Given the description of an element on the screen output the (x, y) to click on. 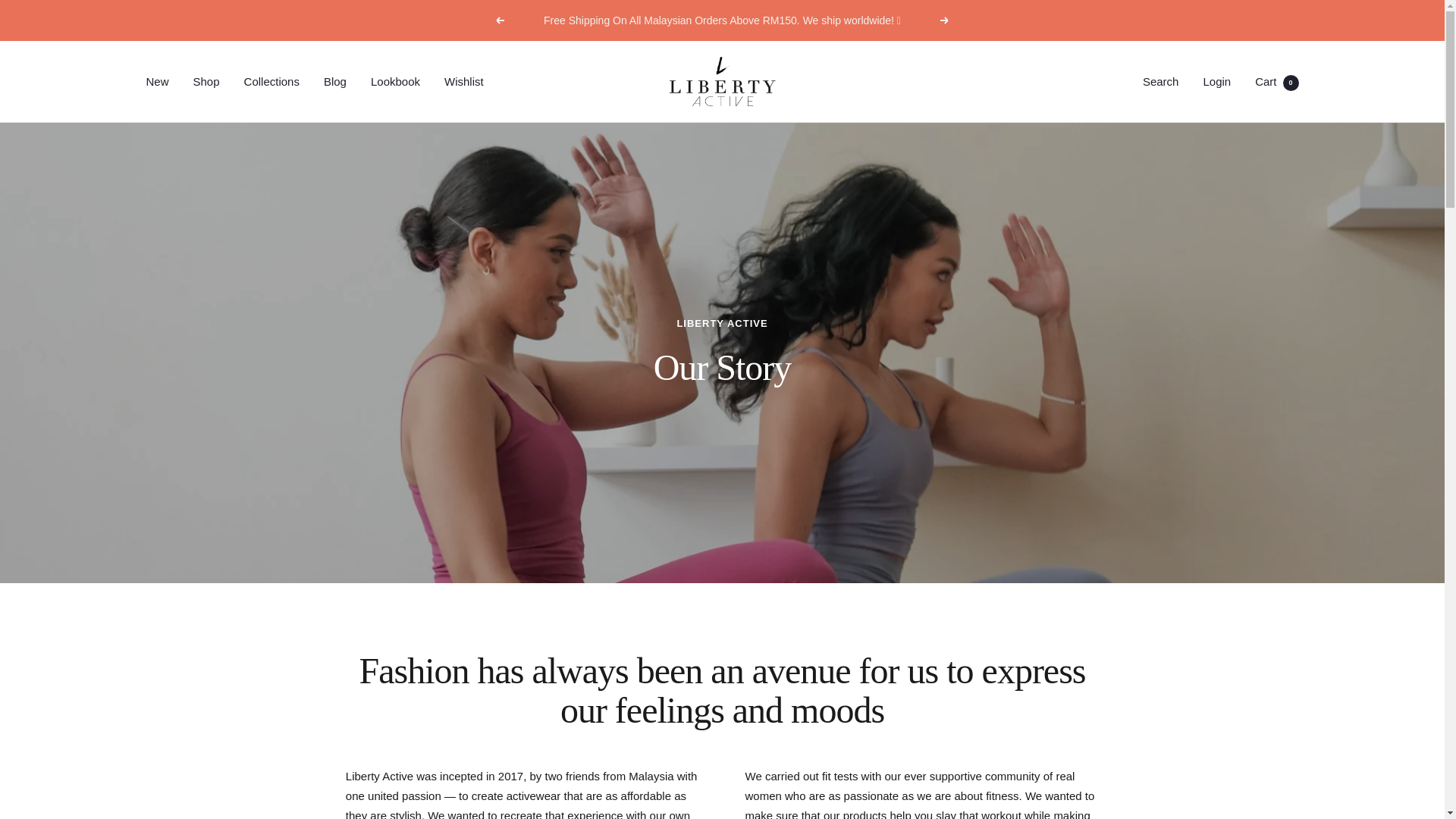
Next (944, 20)
Shop (206, 81)
Search (1160, 81)
Wishlist (463, 81)
Collections (271, 81)
Login (1216, 81)
Previous (499, 20)
New (156, 81)
Liberty Active (1276, 81)
Blog (721, 81)
Lookbook (334, 81)
